Given the description of an element on the screen output the (x, y) to click on. 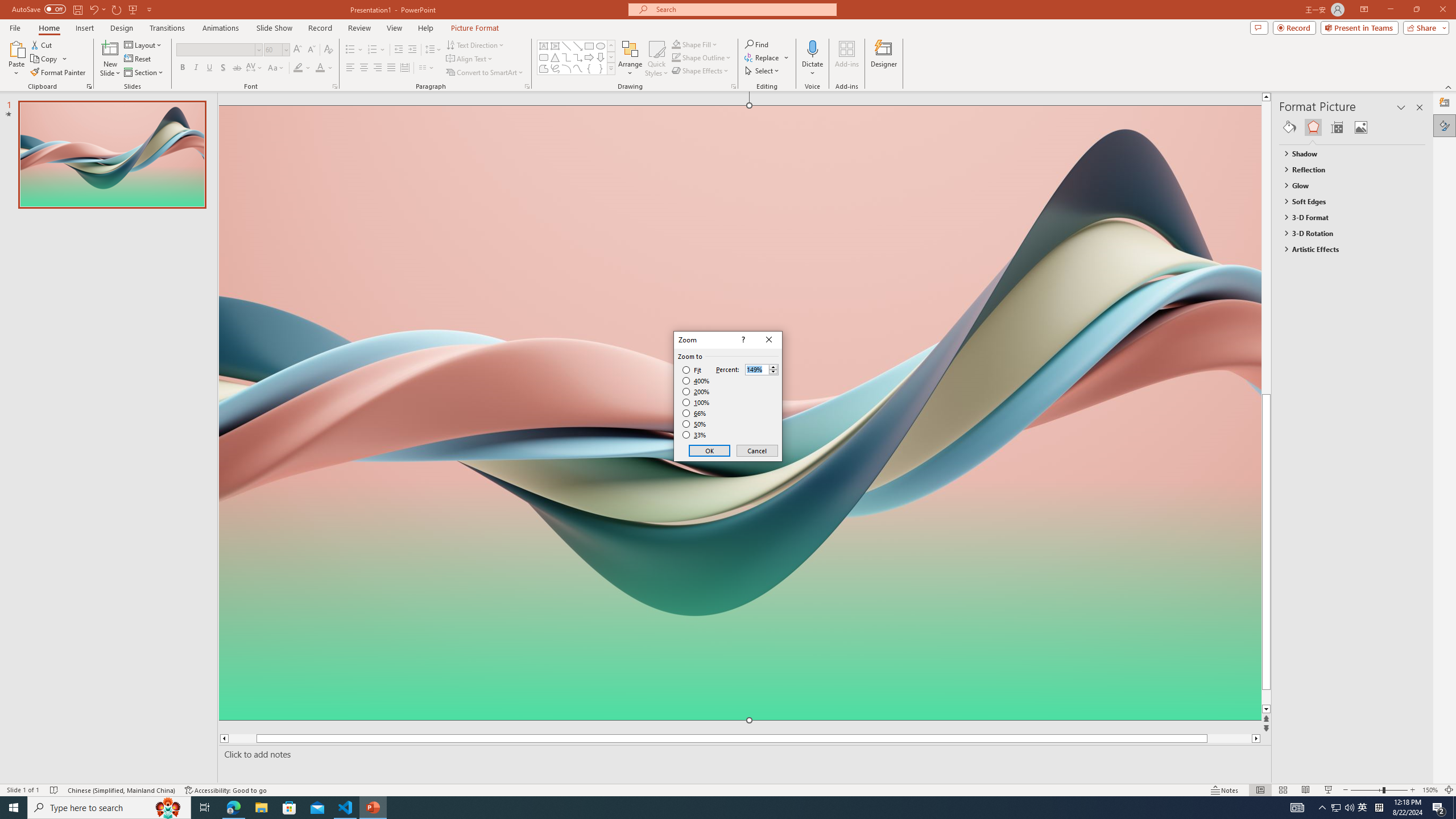
Change Case (276, 67)
Percent (761, 369)
Reflection (1347, 169)
Connector: Elbow Arrow (577, 57)
More (772, 366)
